Given the description of an element on the screen output the (x, y) to click on. 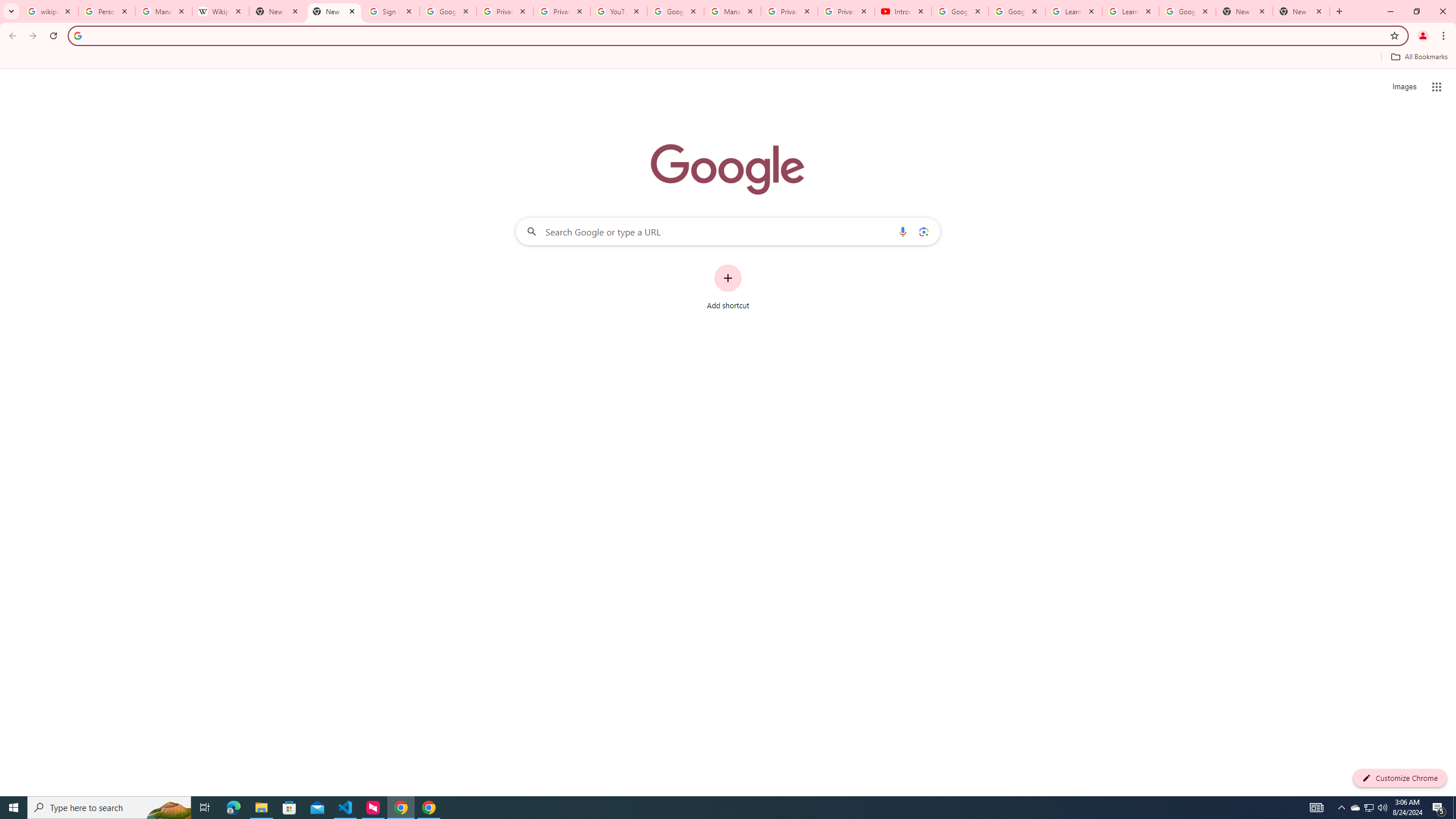
Google Account (1187, 11)
Introduction | Google Privacy Policy - YouTube (902, 11)
Personalization & Google Search results - Google Search Help (105, 11)
Sign in - Google Accounts (391, 11)
Google Drive: Sign-in (447, 11)
